Given the description of an element on the screen output the (x, y) to click on. 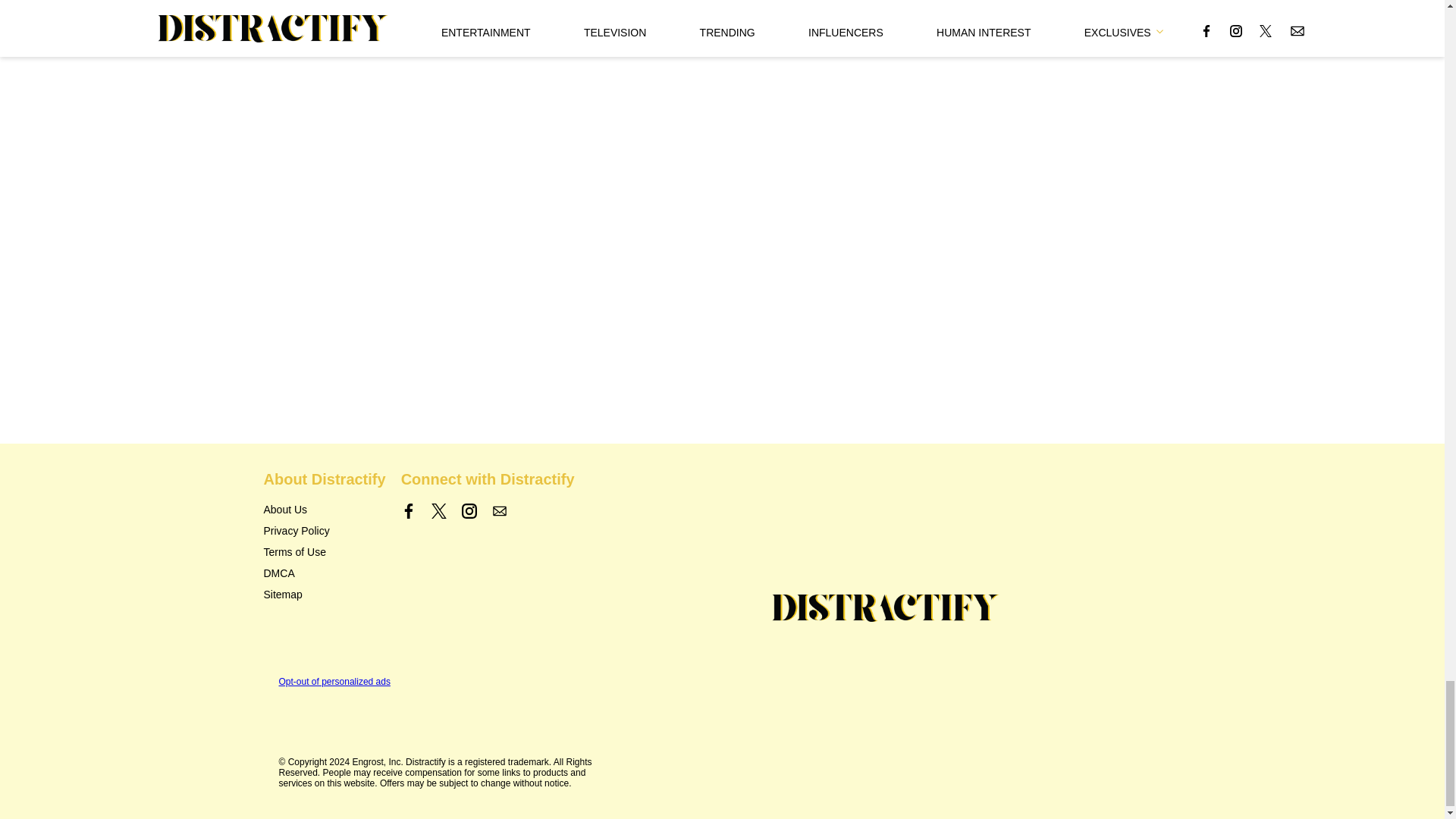
Contact us by Email (499, 510)
About Us (285, 509)
DMCA (279, 573)
Terms of Use (294, 551)
Privacy Policy (296, 530)
DMCA (279, 573)
Privacy Policy (296, 530)
Link to X (438, 510)
Terms of Use (294, 551)
Link to Instagram (469, 510)
